Given the description of an element on the screen output the (x, y) to click on. 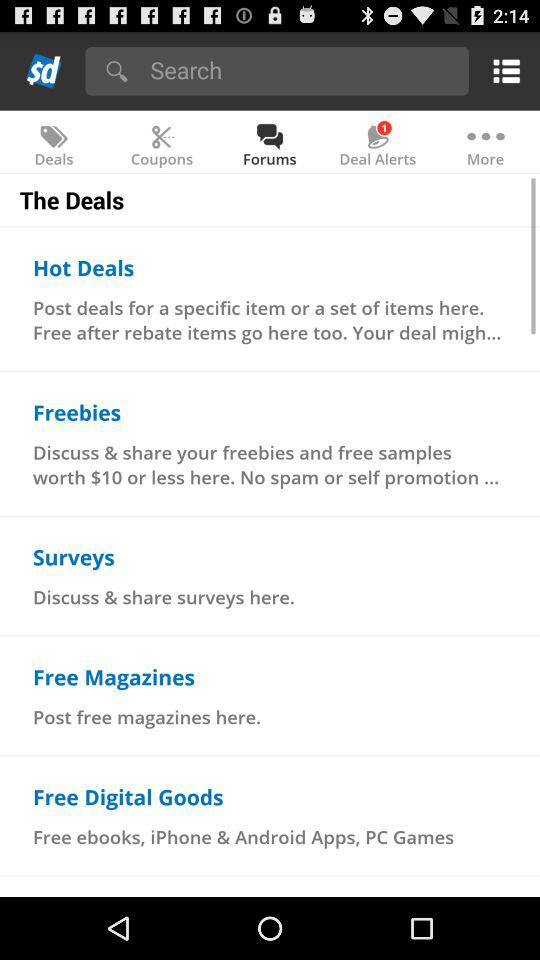
press free ebooks iphone item (243, 836)
